Given the description of an element on the screen output the (x, y) to click on. 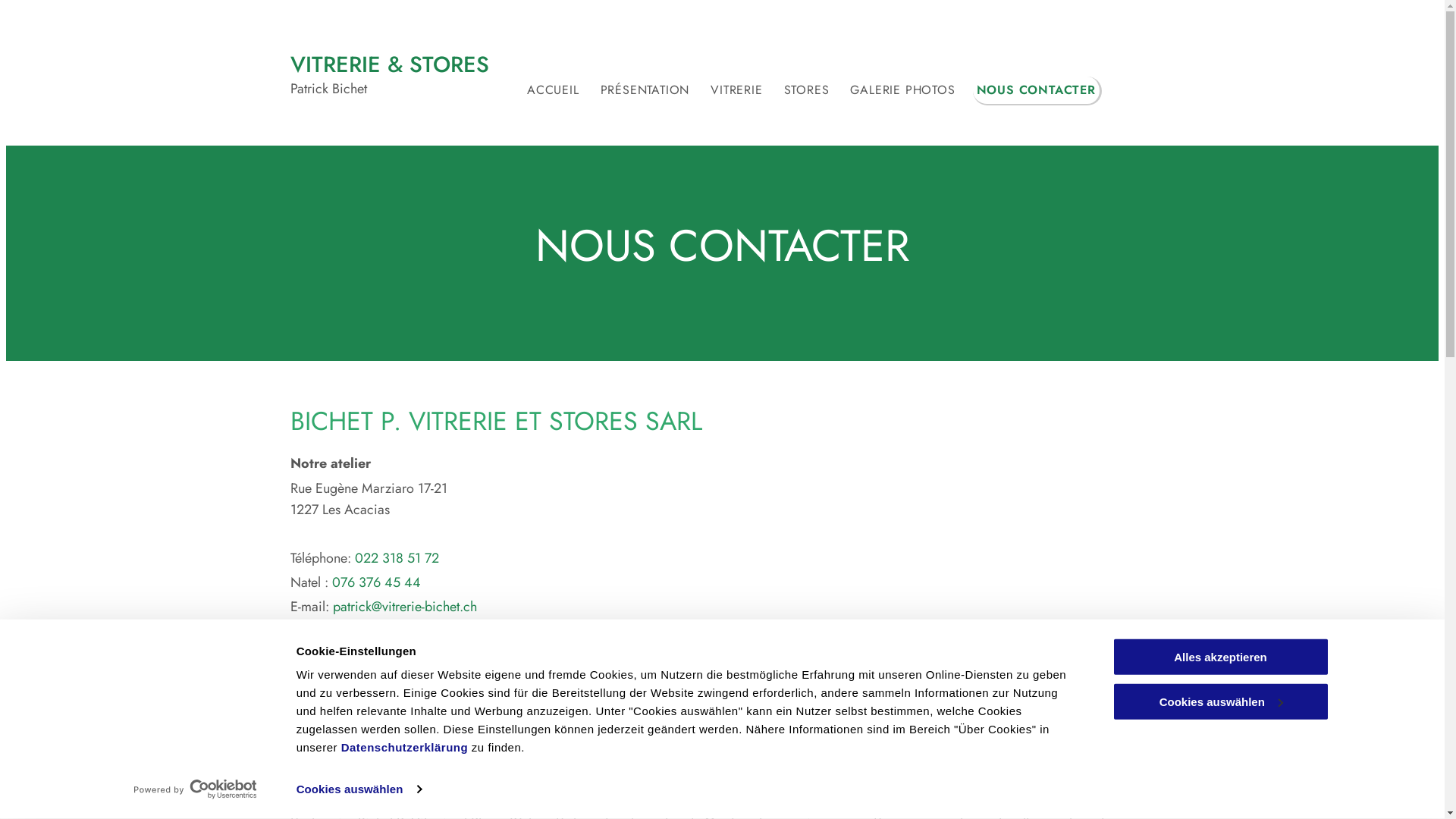
022 318 51 72 Element type: text (396, 557)
VITRERIE Element type: text (737, 90)
Alles akzeptieren Element type: text (1219, 656)
VITRERIE & STORES Element type: text (388, 64)
NOUS CONTACTER Element type: text (1036, 90)
ACCUEIL Element type: text (554, 90)
GALERIE PHOTOS Element type: text (903, 90)
076 376 45 44 Element type: text (376, 582)
STORES Element type: text (807, 90)
patrick@vitrerie-bichet.ch Element type: text (404, 606)
